Given the description of an element on the screen output the (x, y) to click on. 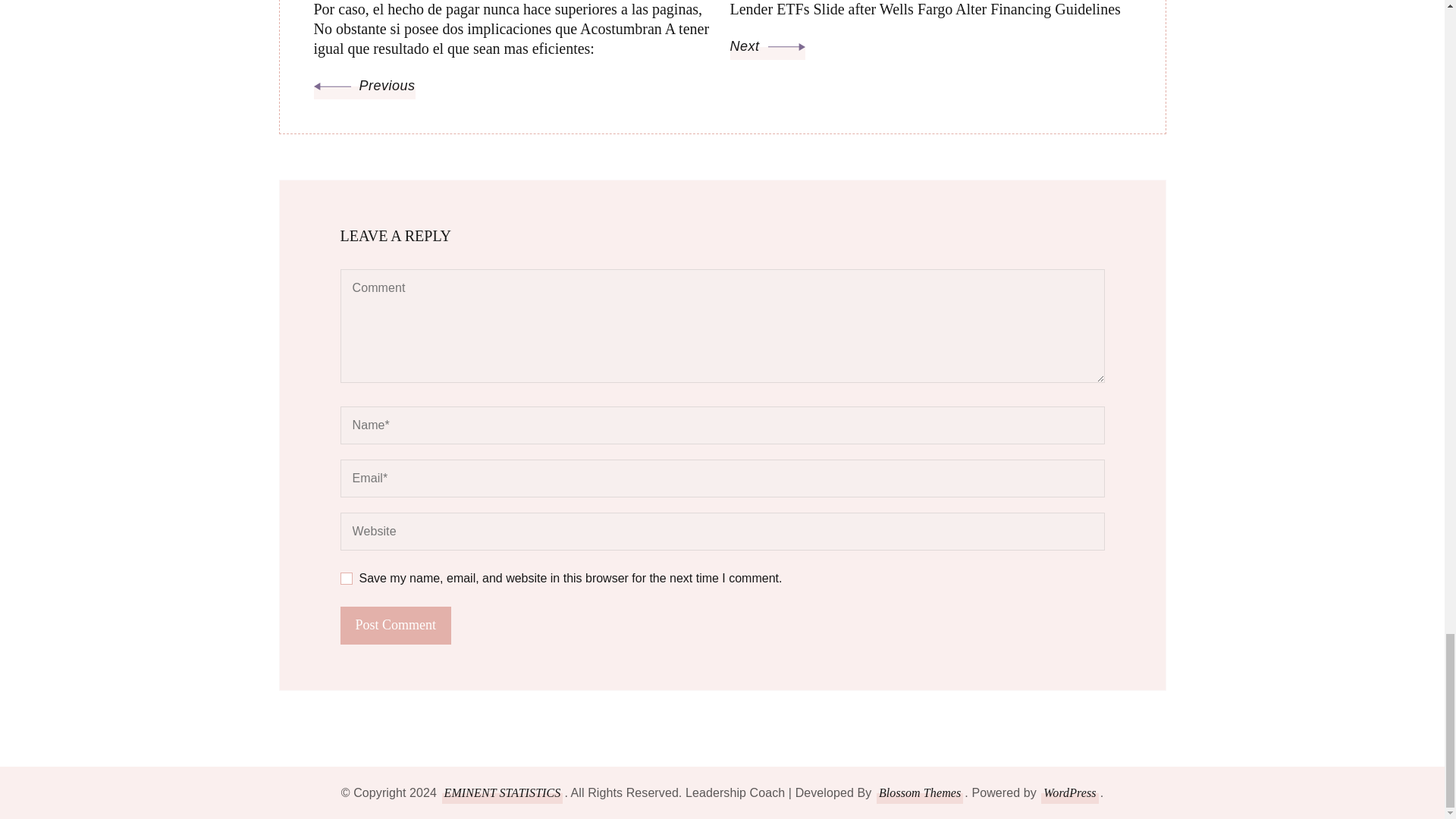
Post Comment (395, 625)
